Given the description of an element on the screen output the (x, y) to click on. 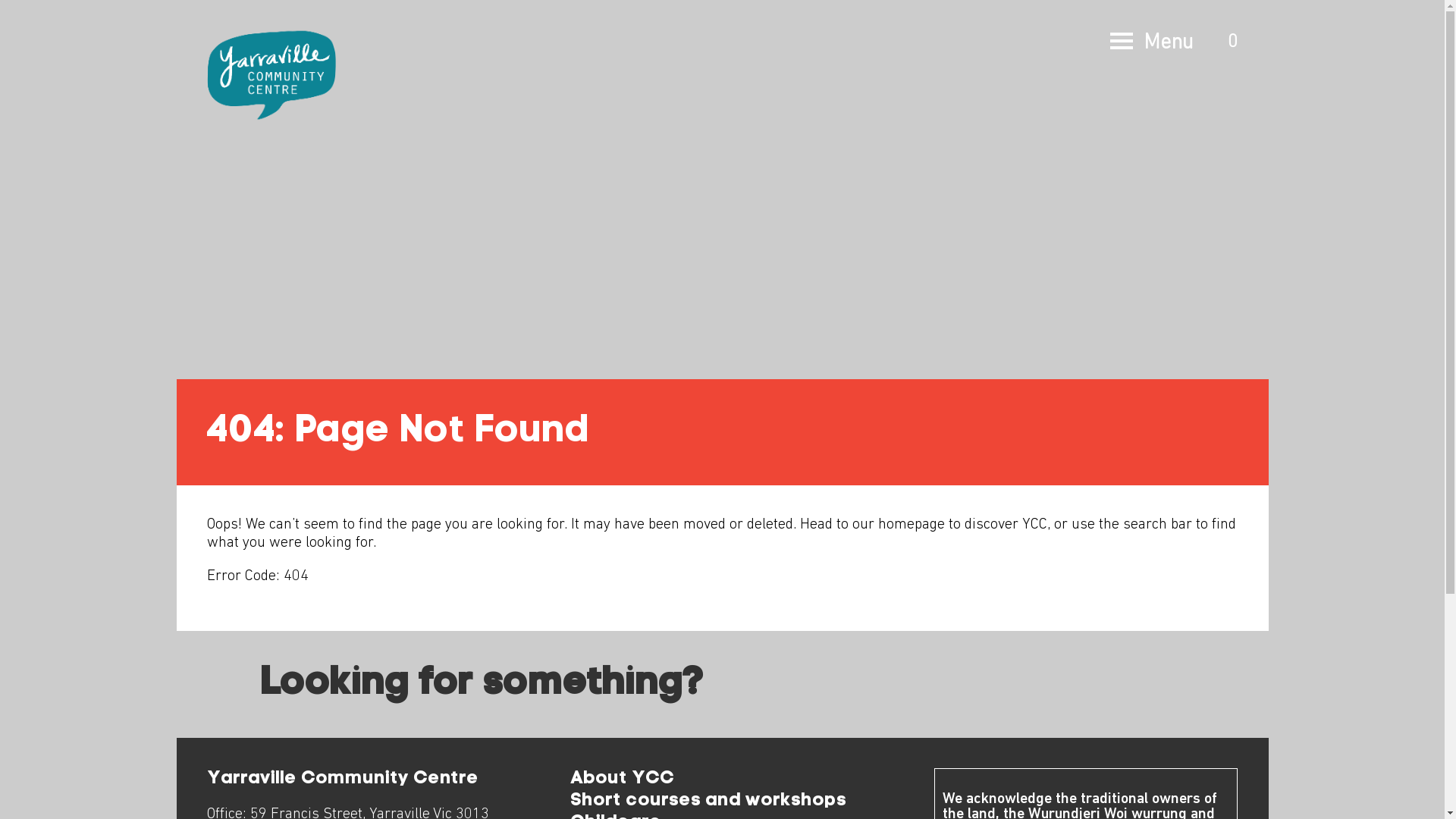
Short courses and workshops Element type: text (708, 800)
About YCC Element type: text (622, 778)
<a href='http://www.jqueryscript.net/menu/'>Menu</a> Element type: hover (1121, 42)
0 Element type: text (1230, 42)
